Given the description of an element on the screen output the (x, y) to click on. 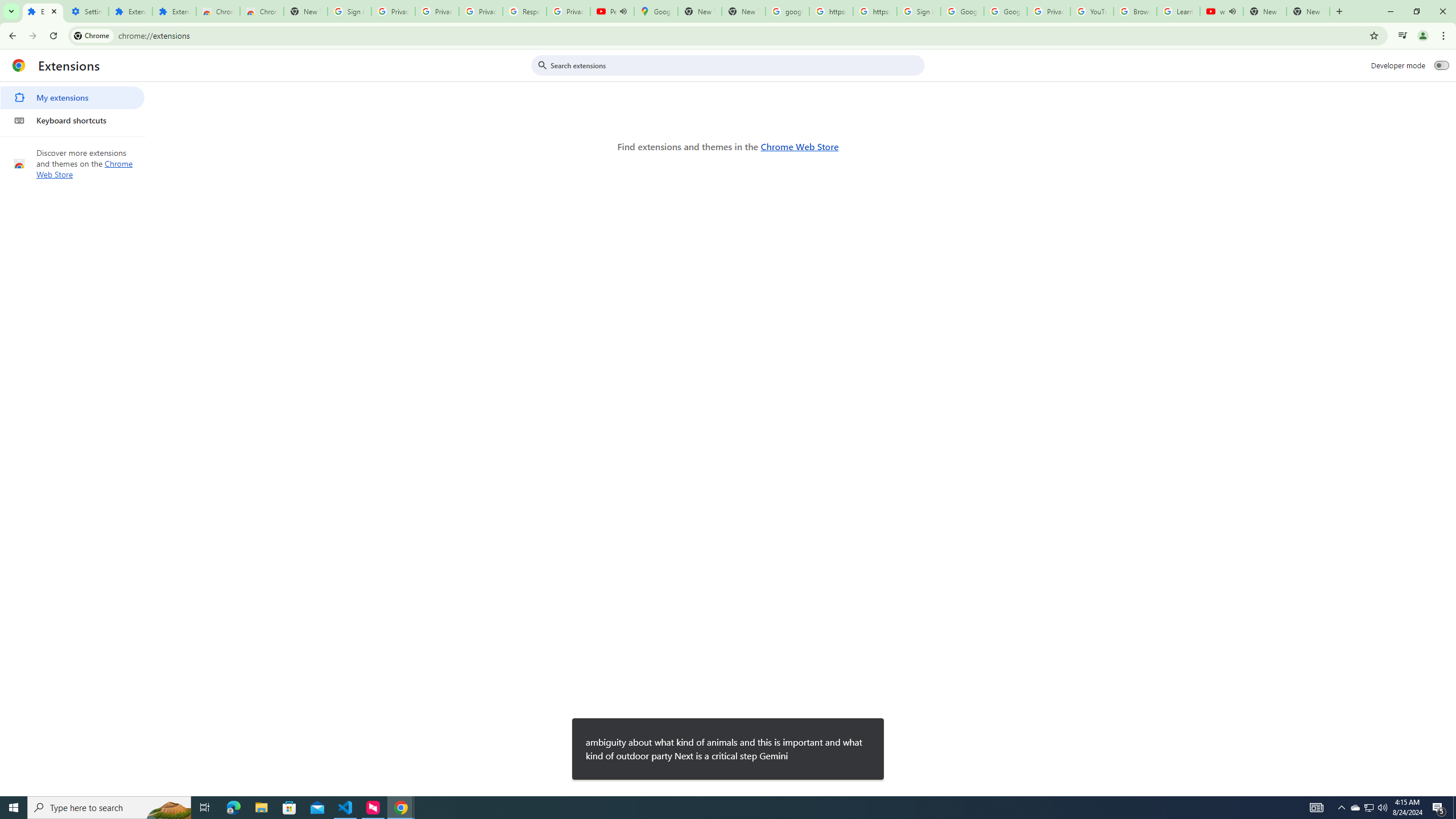
Developer mode (1442, 64)
Extensions (130, 11)
My extensions (72, 97)
Keyboard shortcuts (72, 119)
Chrome Web Store (217, 11)
Sign in - Google Accounts (349, 11)
Chrome Web Store - Themes (261, 11)
